Given the description of an element on the screen output the (x, y) to click on. 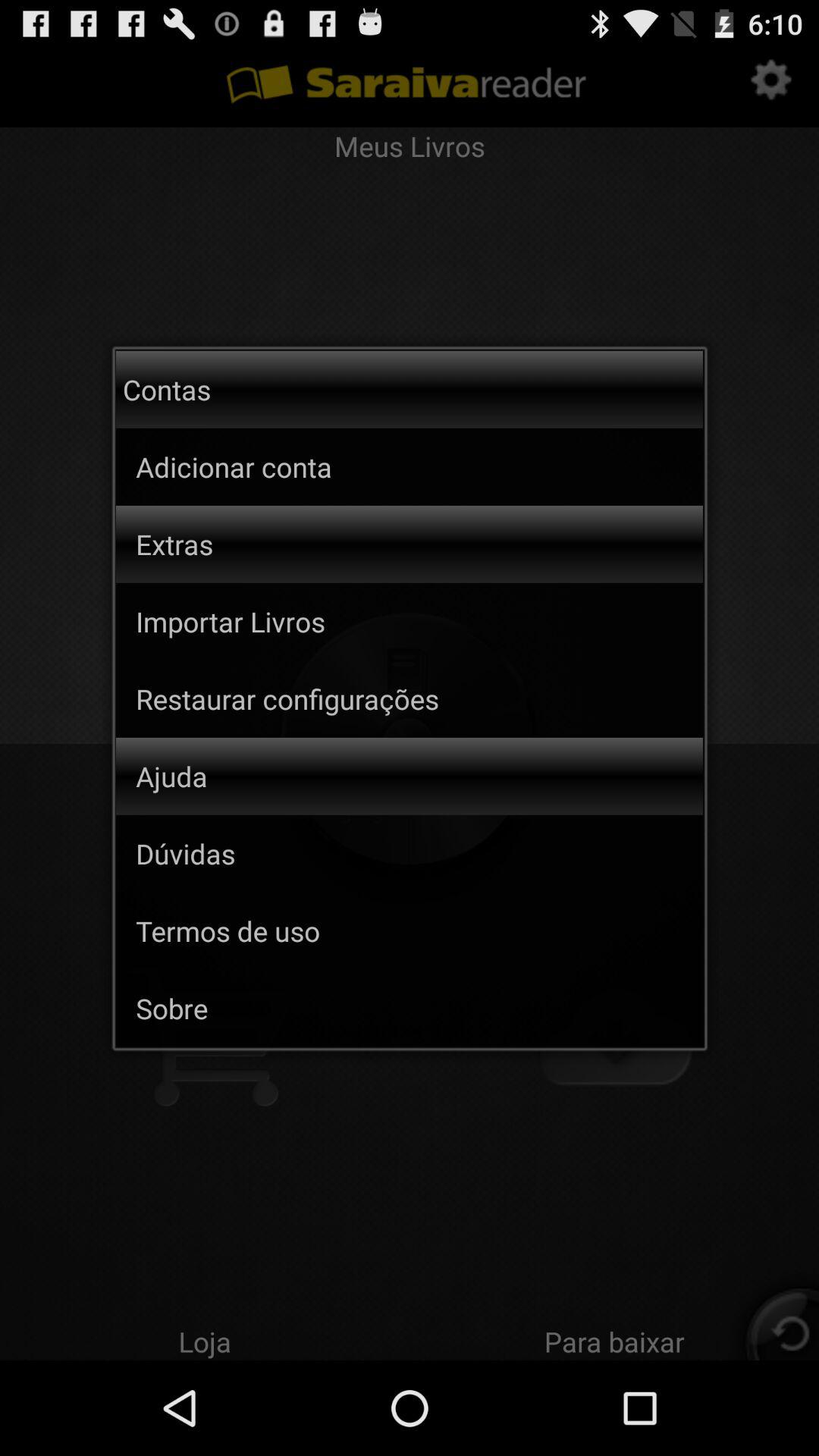
press the sobre app (418, 1008)
